Given the description of an element on the screen output the (x, y) to click on. 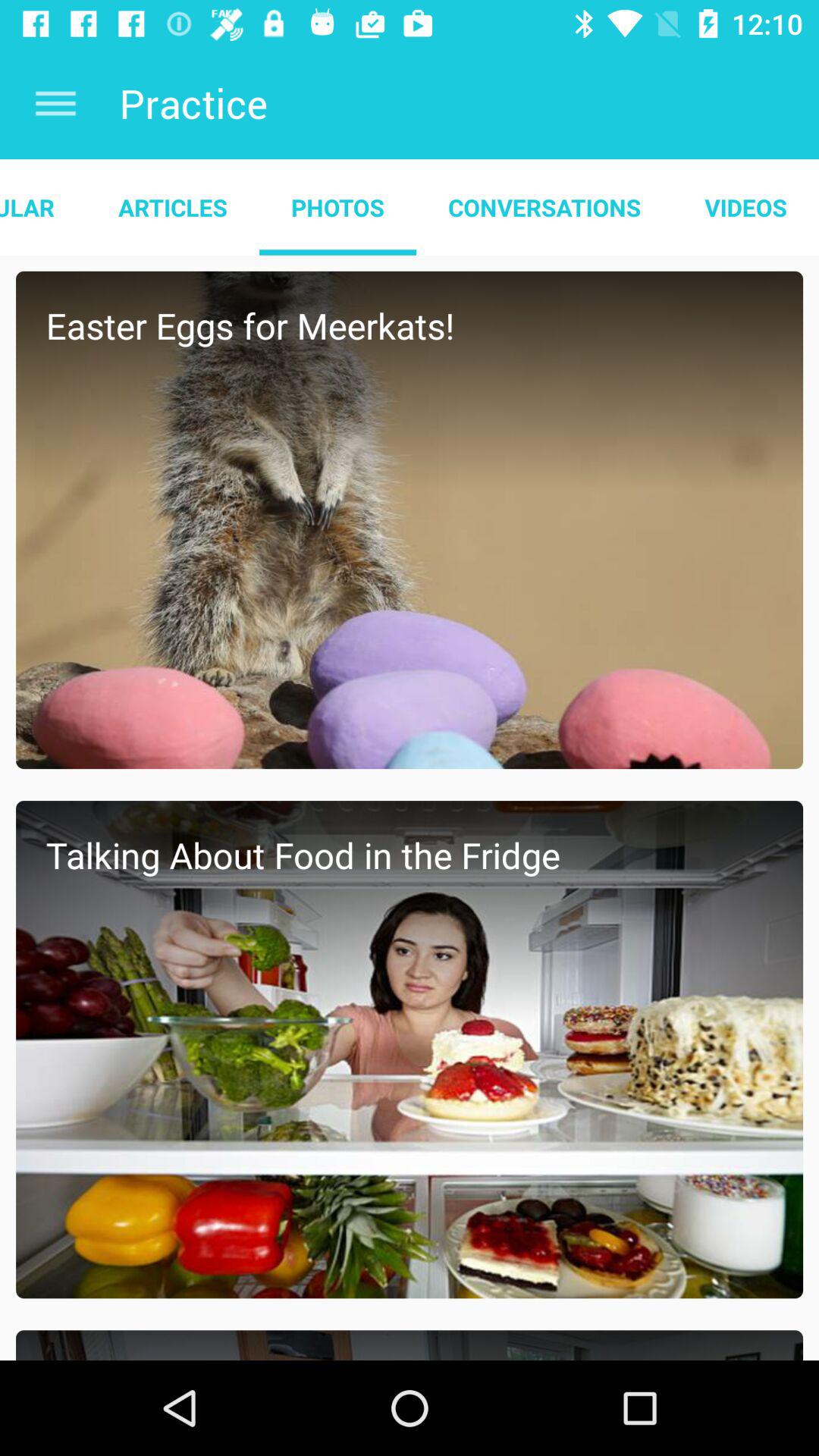
tap photos app (337, 207)
